Given the description of an element on the screen output the (x, y) to click on. 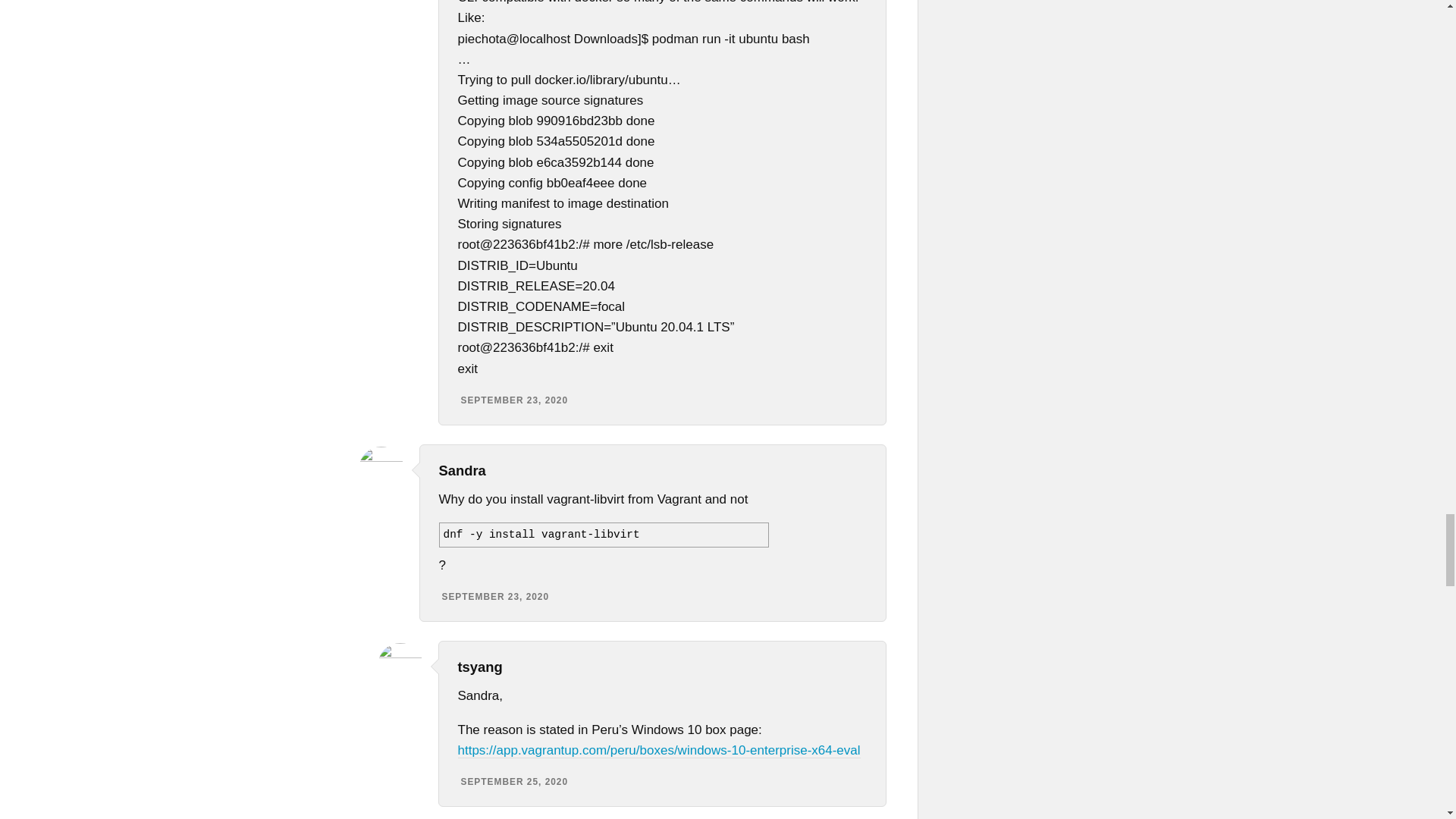
September 25, 2020 at 00:31 (515, 781)
September 23, 2020 at 22:09 (494, 596)
SEPTEMBER 23, 2020 (515, 399)
September 23, 2020 at 21:11 (515, 399)
